Given the description of an element on the screen output the (x, y) to click on. 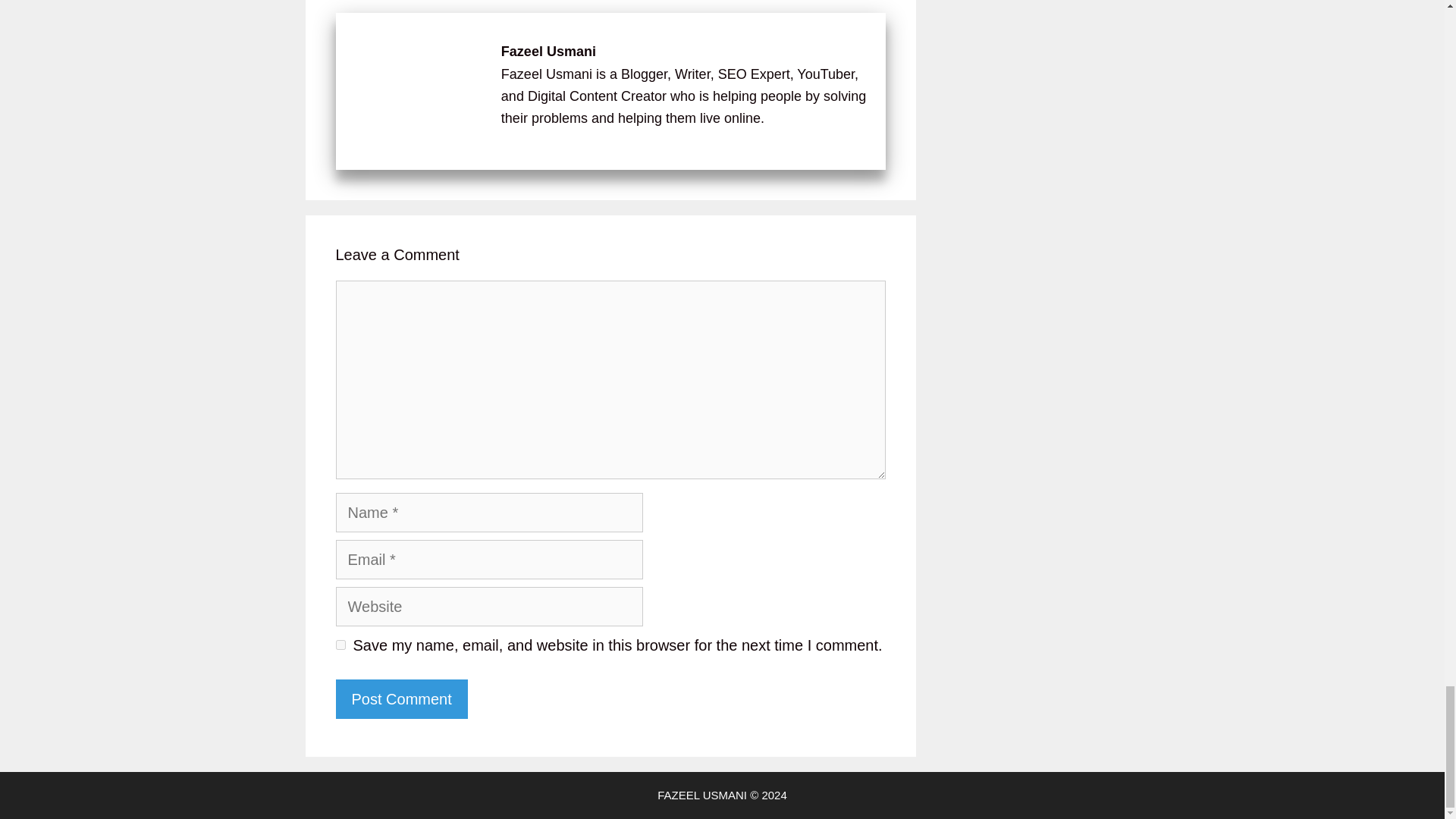
Post Comment (400, 699)
yes (339, 644)
Post Comment (400, 699)
